Given the description of an element on the screen output the (x, y) to click on. 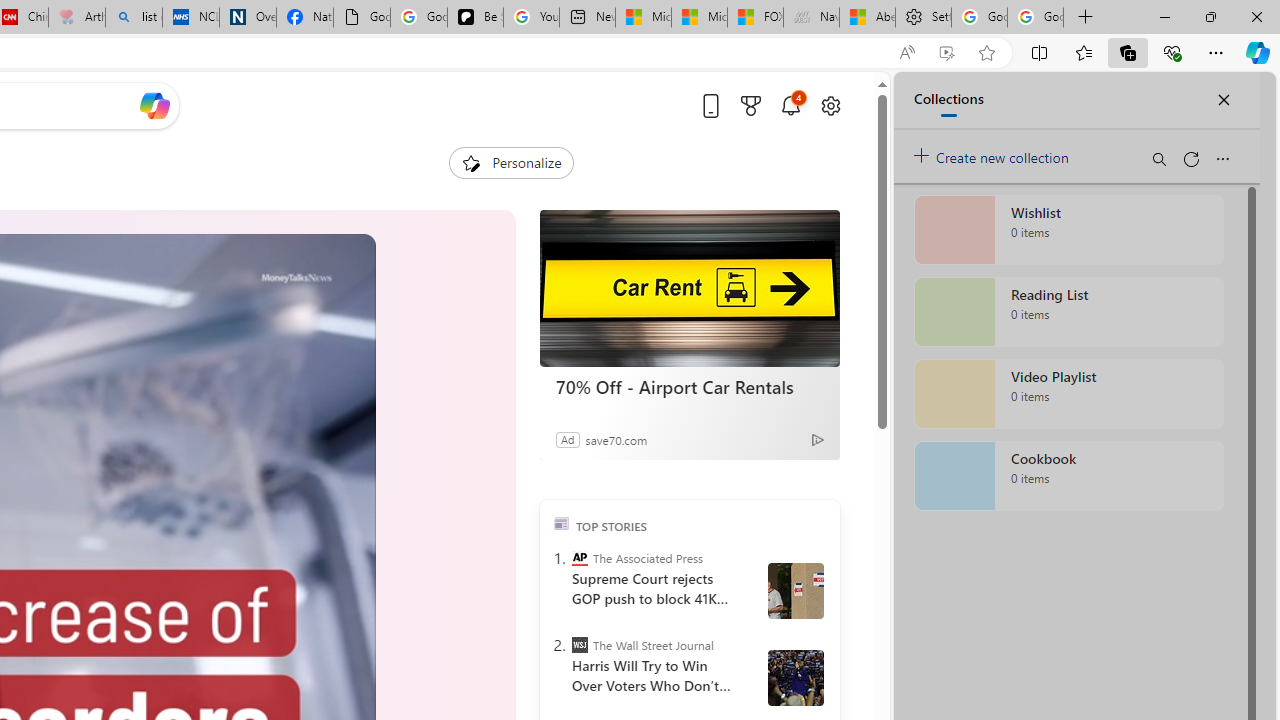
Arthritis: Ask Health Professionals - Sleeping (76, 17)
